Given the description of an element on the screen output the (x, y) to click on. 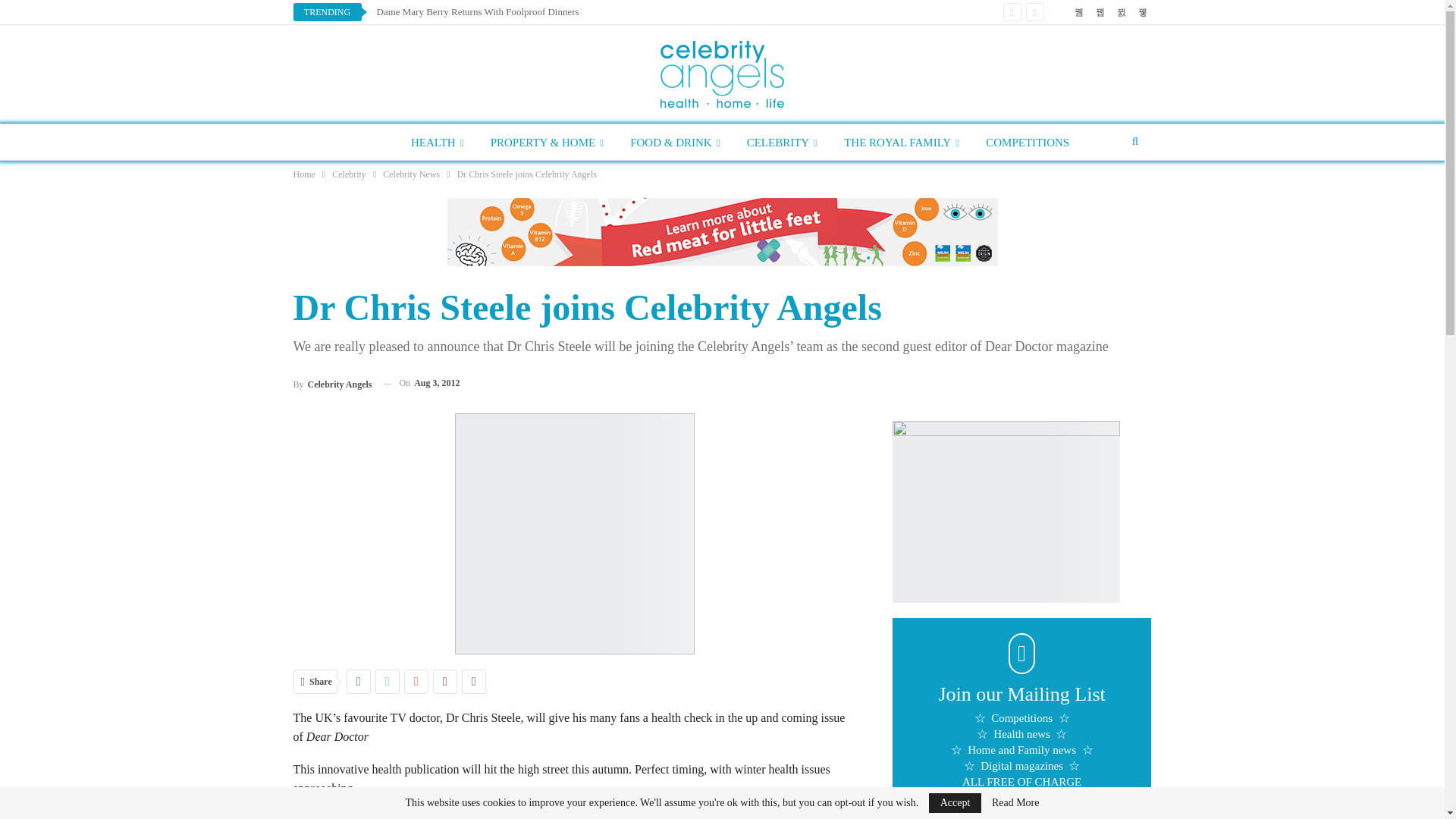
HEALTH (437, 142)
Dame Mary Berry Returns With Foolproof Dinners (476, 11)
